Given the description of an element on the screen output the (x, y) to click on. 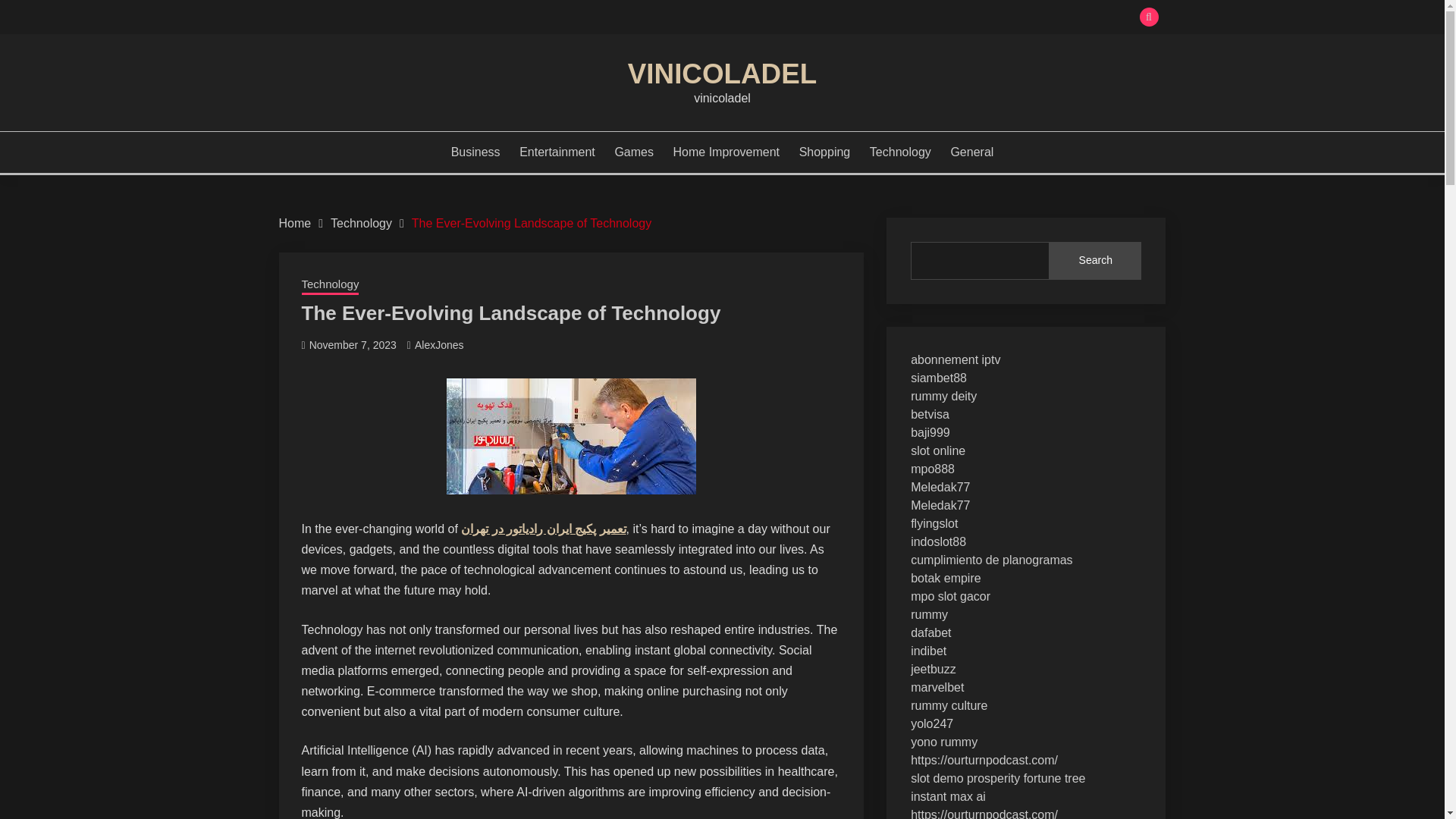
AlexJones (439, 345)
abonnement iptv (955, 359)
siambet88 (938, 377)
November 7, 2023 (352, 345)
Technology (330, 285)
Entertainment (557, 152)
VINICOLADEL (721, 73)
rummy deity (943, 395)
Business (475, 152)
Search (832, 18)
